Given the description of an element on the screen output the (x, y) to click on. 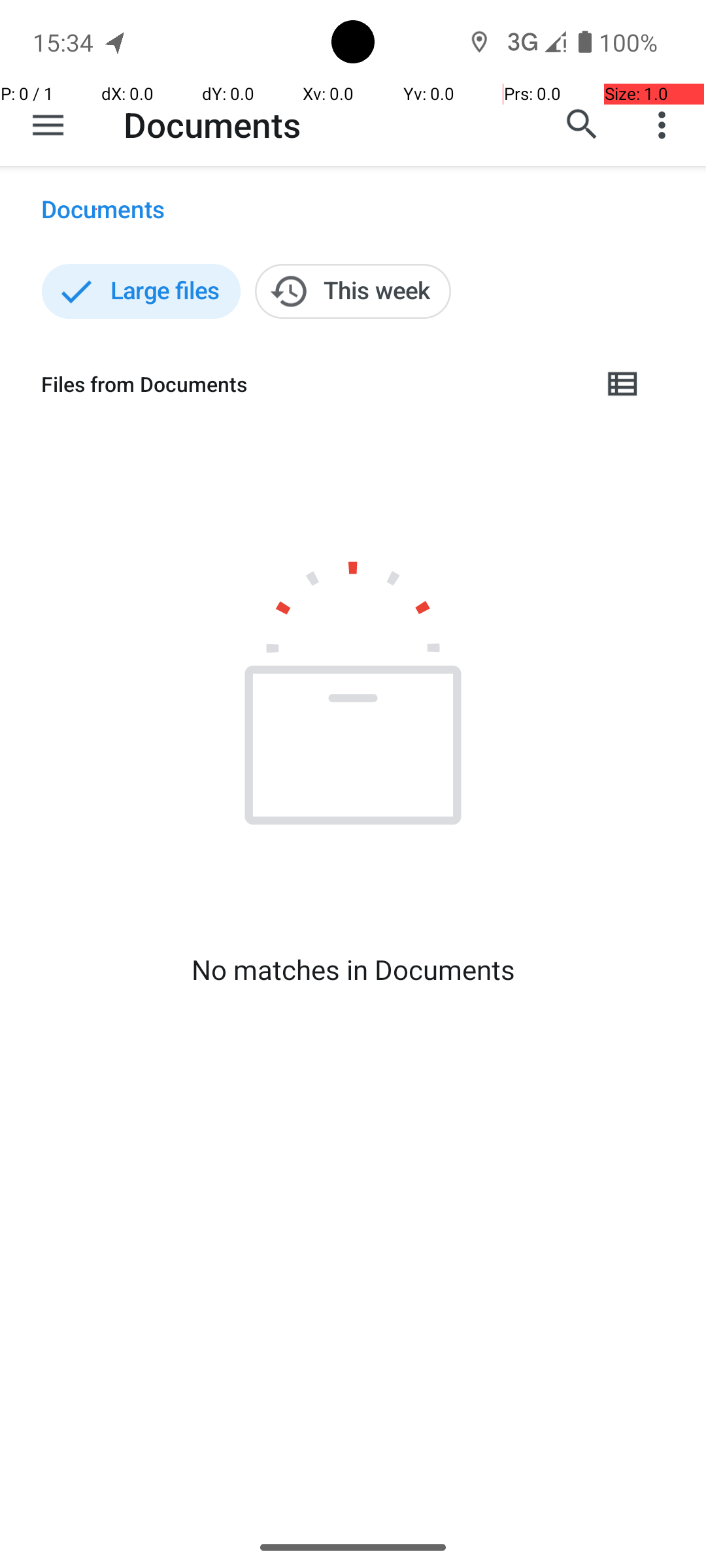
Files from Documents Element type: android.widget.TextView (311, 383)
No matches in Documents Element type: android.widget.TextView (352, 968)
